Given the description of an element on the screen output the (x, y) to click on. 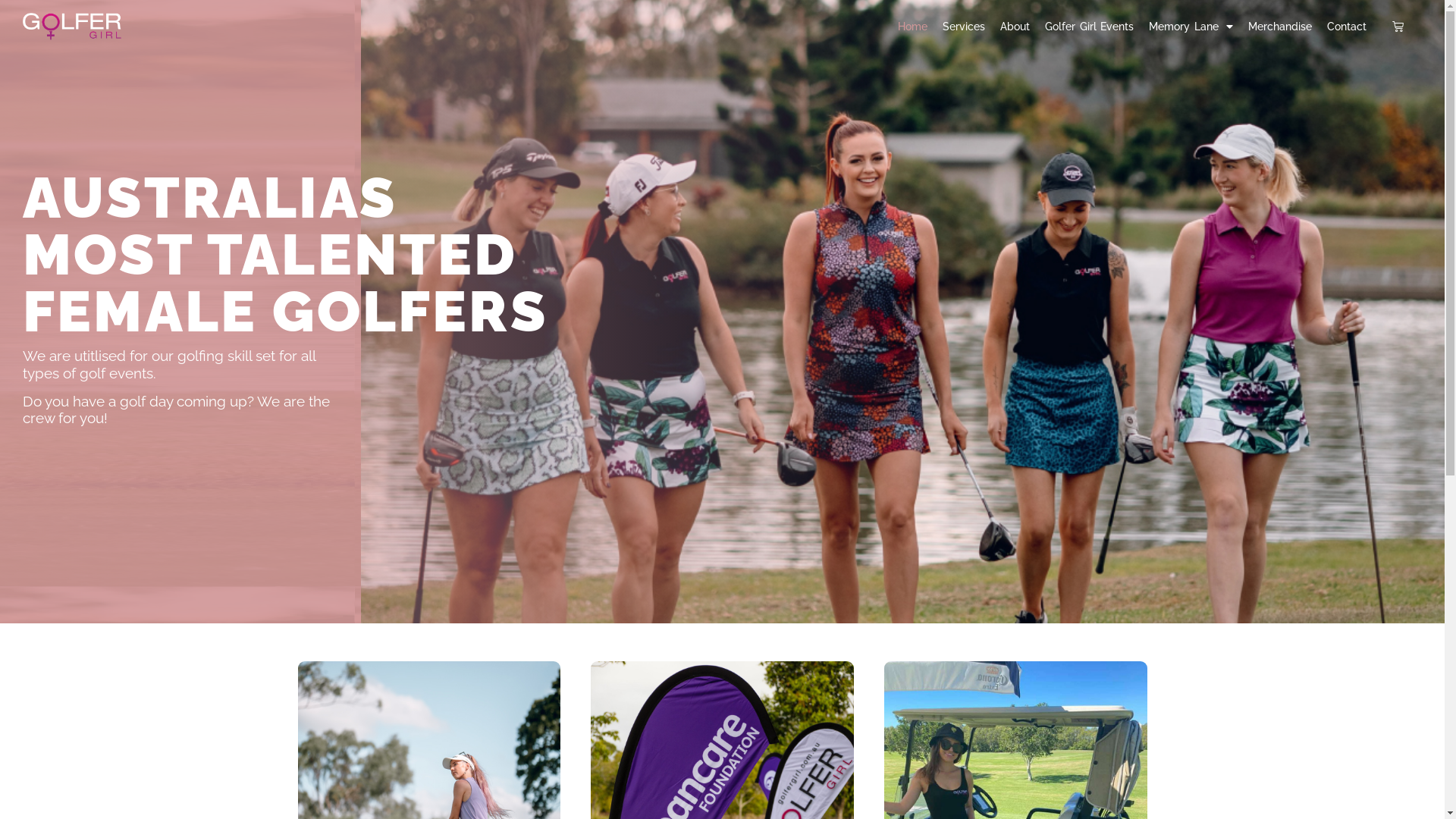
Golfer Girl Events Element type: text (1089, 26)
Merchandise Element type: text (1279, 26)
Memory Lane Element type: text (1190, 26)
Home Element type: text (912, 26)
About Element type: text (1014, 26)
Contact Element type: text (1346, 26)
Services Element type: text (963, 26)
